Given the description of an element on the screen output the (x, y) to click on. 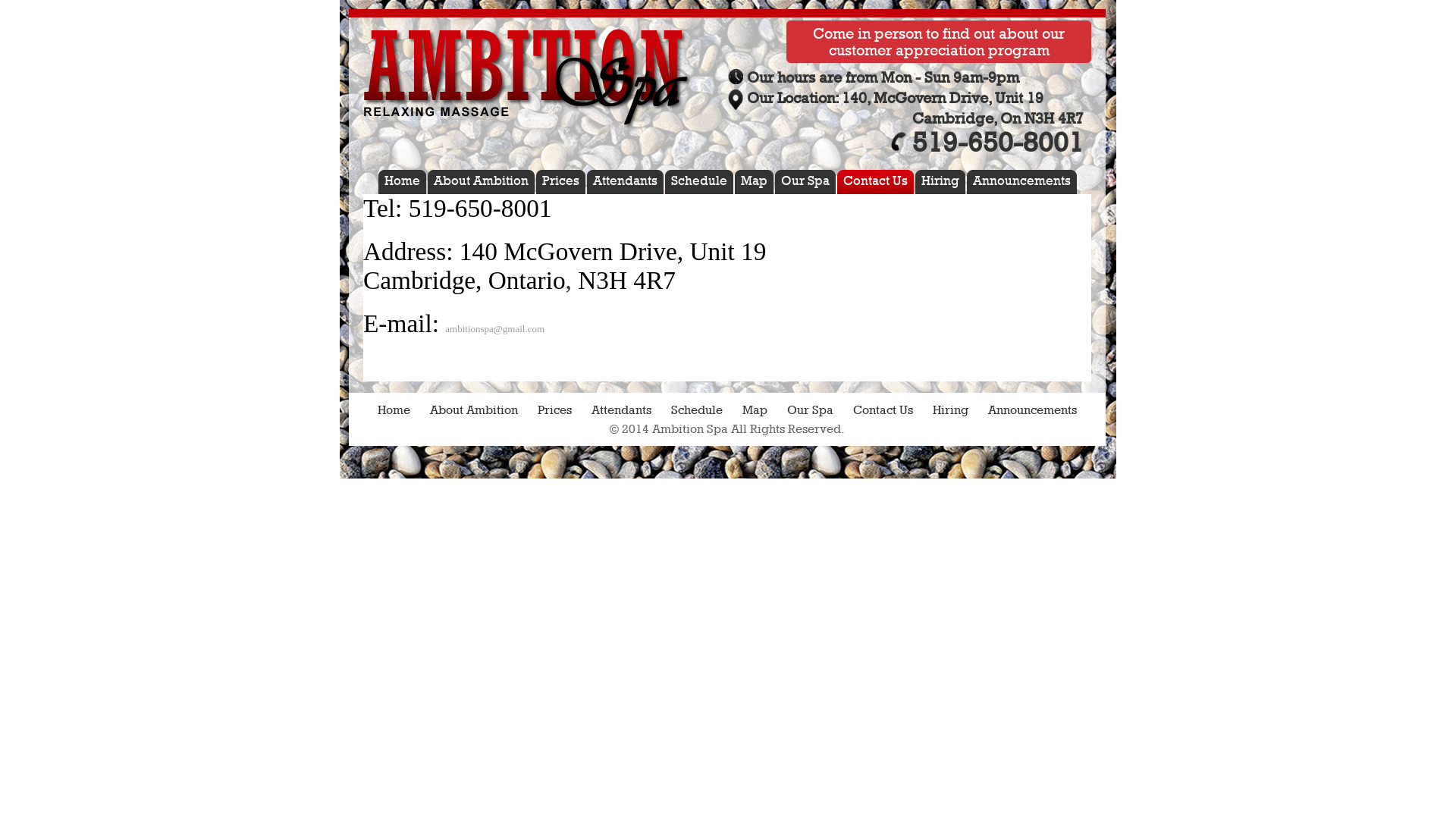
About Ambition Element type: text (483, 181)
Map Element type: text (754, 409)
Schedule Element type: text (696, 409)
Announcements Element type: text (1032, 409)
Hiring Element type: text (950, 409)
Hiring Element type: text (942, 181)
About Ambition Element type: text (473, 409)
Our Spa Element type: text (810, 409)
Home Element type: text (393, 409)
Attendants Element type: text (628, 181)
Prices Element type: text (562, 181)
Home Element type: text (404, 181)
Contact Us Element type: text (883, 409)
Prices Element type: text (554, 409)
Contact Us Element type: text (878, 181)
ambitionspa@gmail.com Element type: text (494, 328)
Announcements Element type: text (1024, 181)
Map Element type: text (756, 181)
Our Spa Element type: text (808, 181)
Attendants Element type: text (621, 409)
Schedule Element type: text (701, 181)
